Given the description of an element on the screen output the (x, y) to click on. 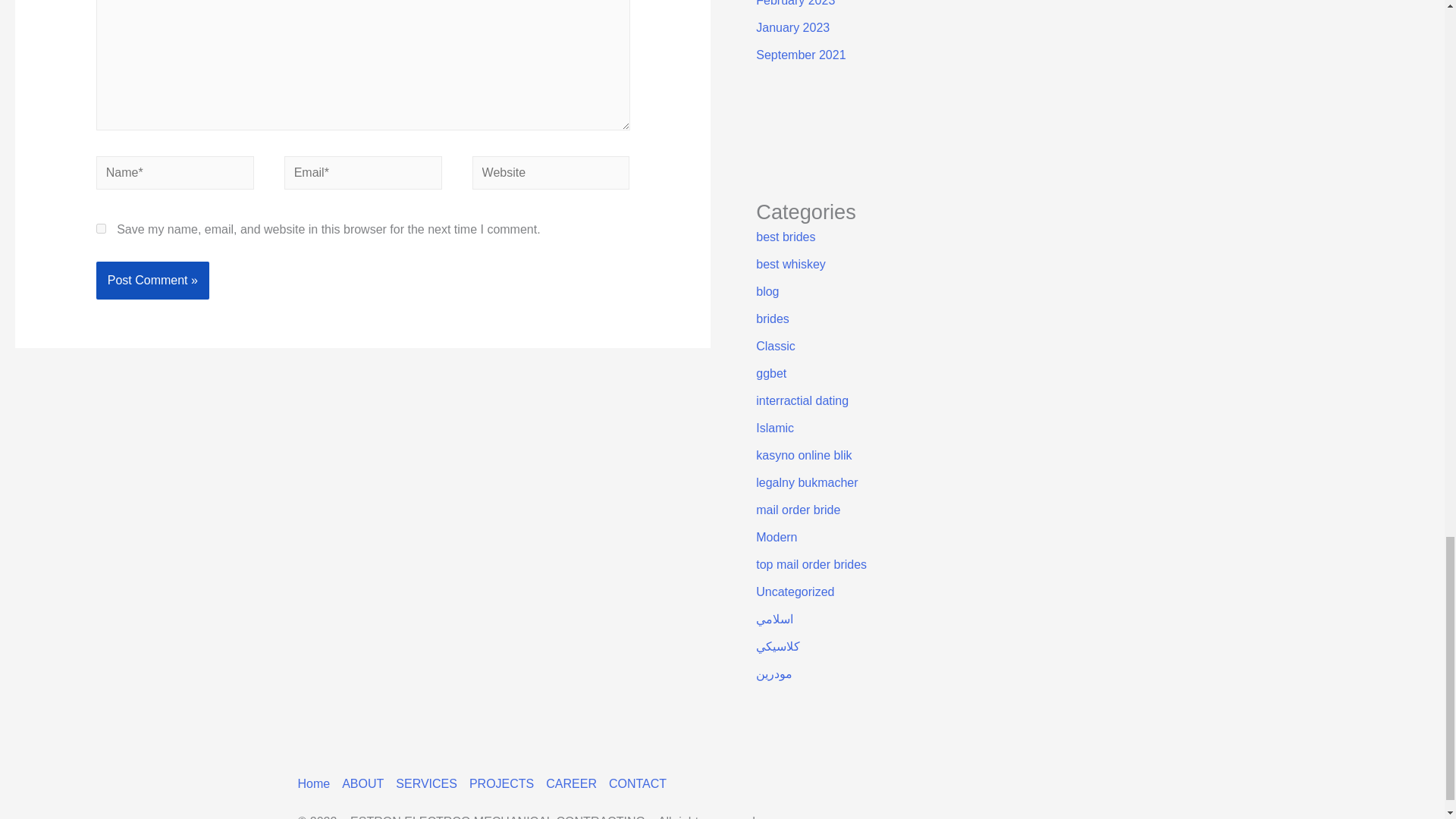
yes (101, 228)
